Given the description of an element on the screen output the (x, y) to click on. 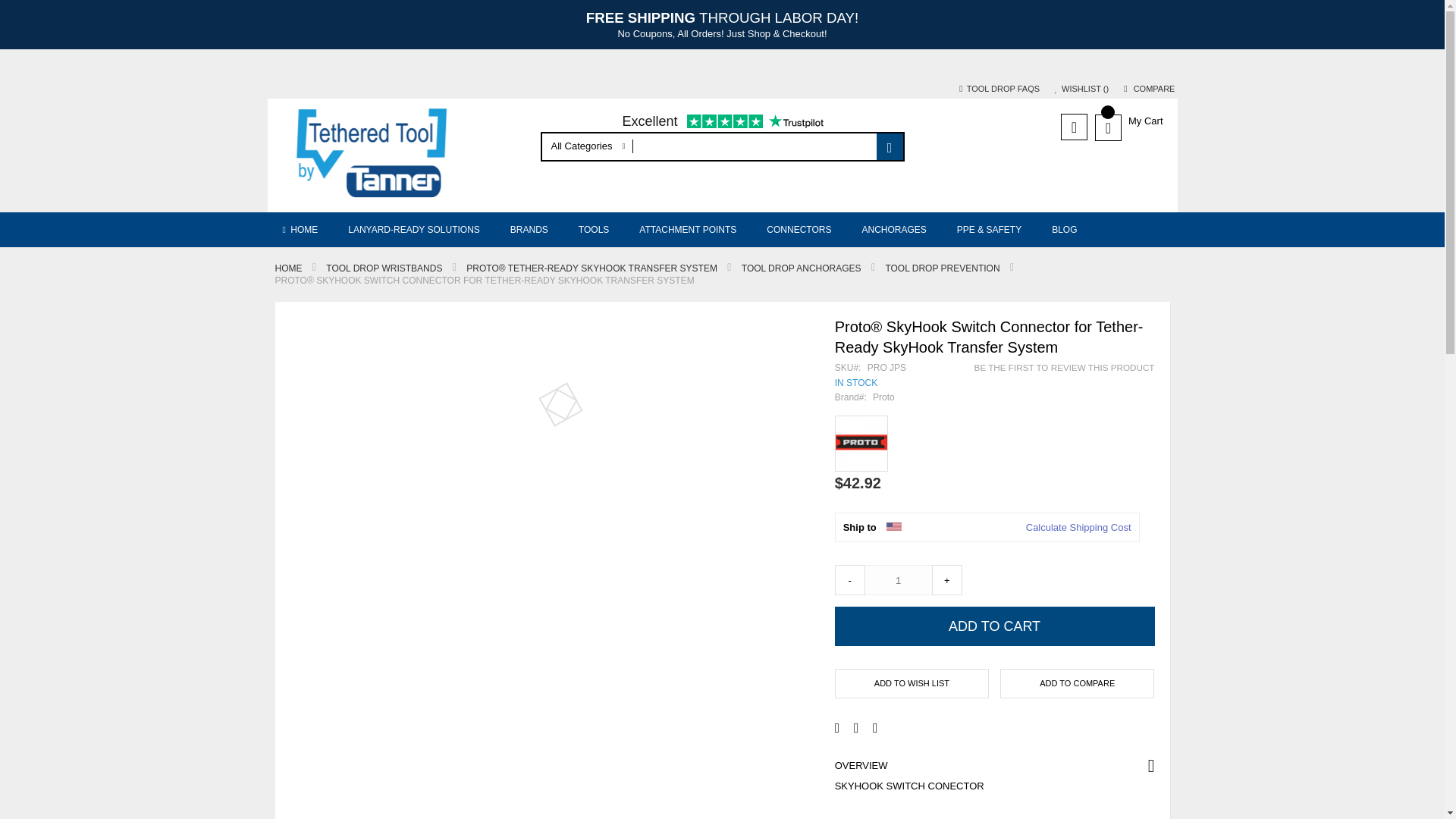
WISHLIST (1081, 89)
Customer reviews powered by Trustpilot (722, 122)
COMPARE (1150, 89)
Welcome to TetheredTool.com (399, 155)
All Categories (586, 145)
Compare (1150, 89)
1 (898, 580)
TOOL DROP FAQS (999, 89)
Search (889, 146)
